Given the description of an element on the screen output the (x, y) to click on. 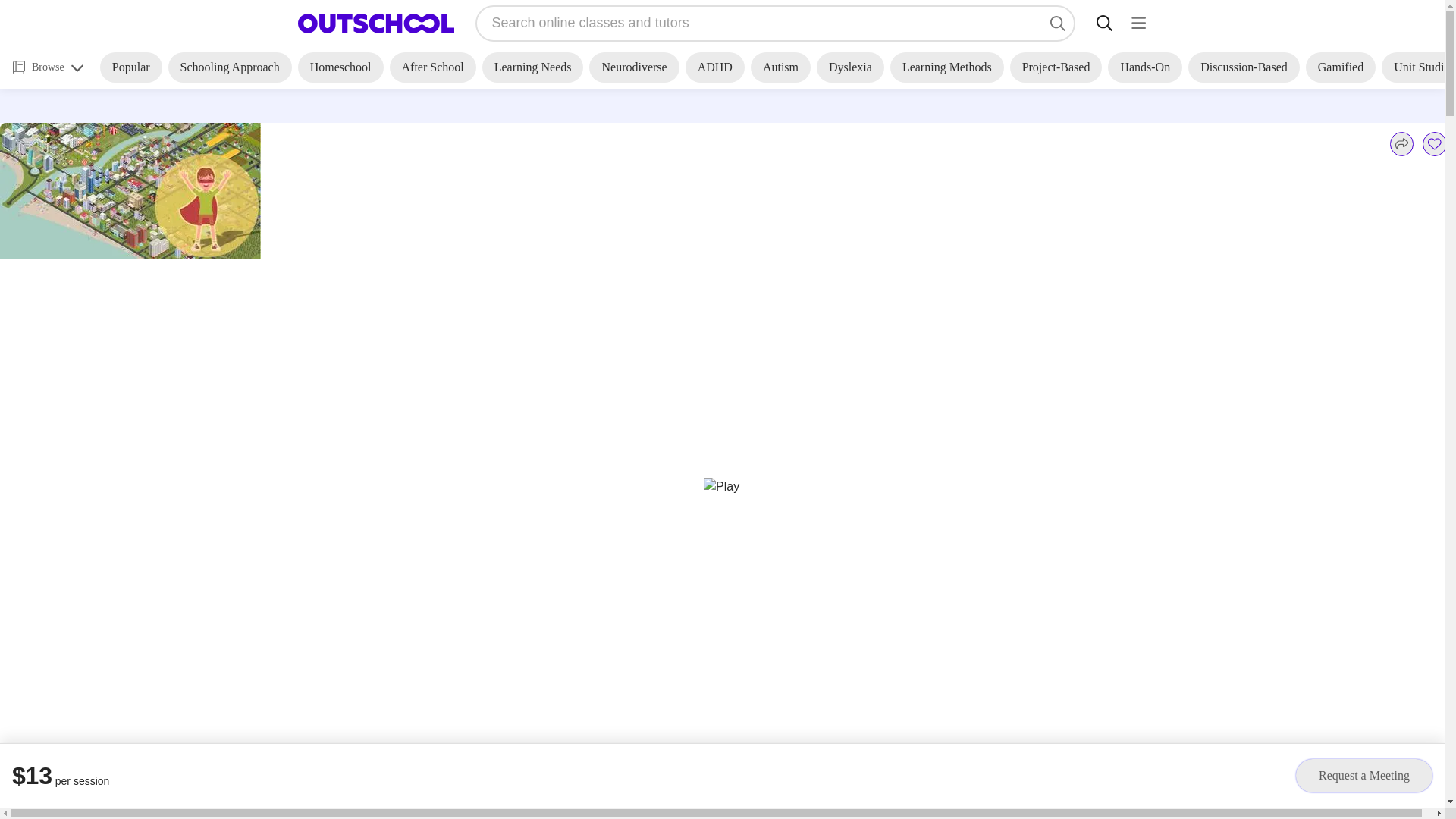
Gamified (1340, 67)
Autism (780, 67)
Project-Based (1056, 67)
Popular (130, 67)
Homeschool (341, 67)
Trustpilot reviews (169, 106)
Learning Methods (946, 67)
Dyslexia (849, 67)
After School (433, 67)
Browse (48, 66)
